Given the description of an element on the screen output the (x, y) to click on. 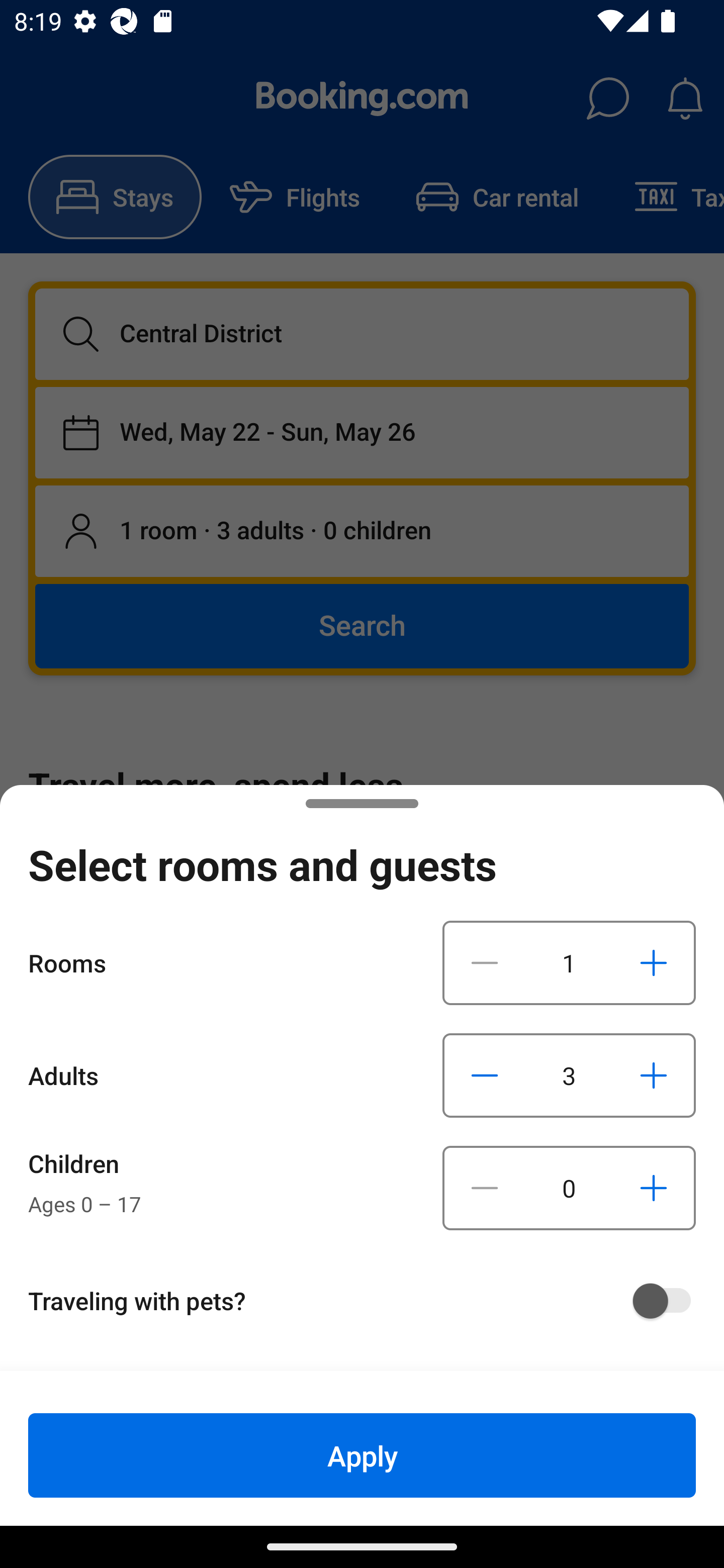
Decrease (484, 962)
Increase (653, 962)
Decrease (484, 1075)
Increase (653, 1075)
Decrease (484, 1188)
Increase (653, 1188)
Traveling with pets? (369, 1300)
Apply (361, 1454)
